Given the description of an element on the screen output the (x, y) to click on. 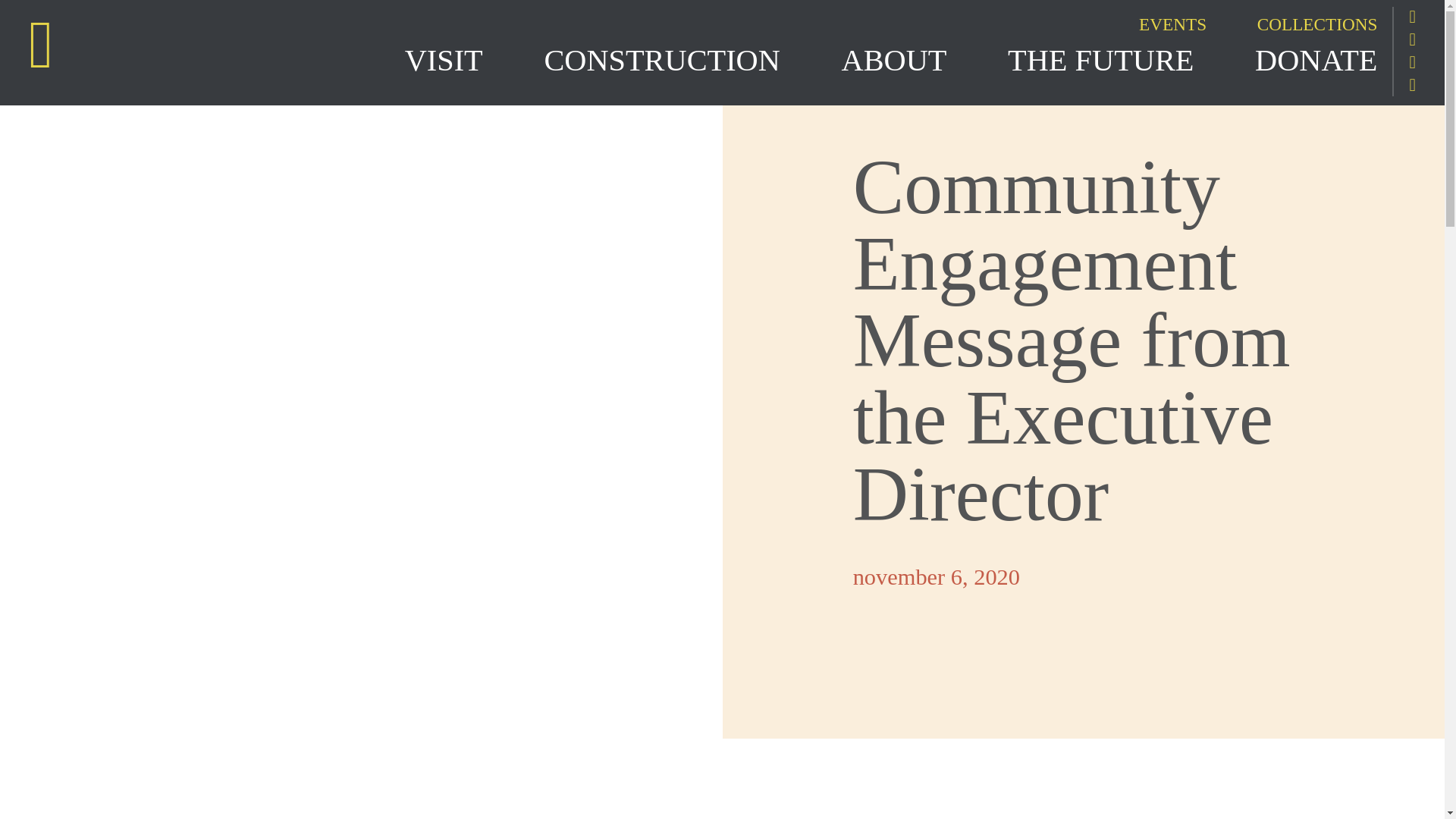
EVENTS (1150, 24)
ABOUT (925, 60)
COLLECTIONS (1294, 24)
VISIT (474, 60)
CONSTRUCTION (692, 60)
DONATE (1316, 60)
THE FUTURE (1131, 60)
